Given the description of an element on the screen output the (x, y) to click on. 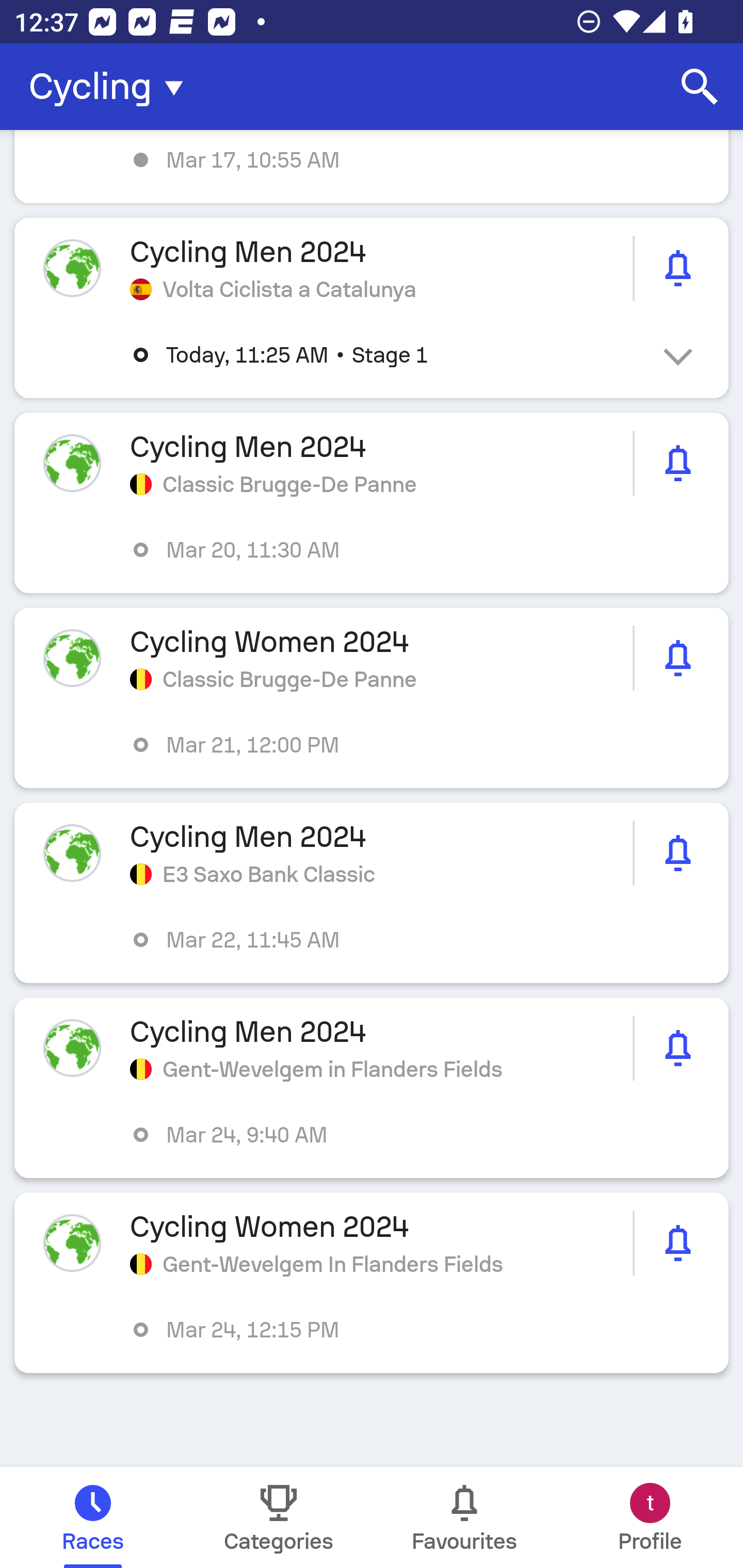
Cycling (111, 86)
Search (699, 86)
Today, 11:25 AM • Stage 1 (385, 355)
Categories (278, 1517)
Favourites (464, 1517)
Profile (650, 1517)
